Given the description of an element on the screen output the (x, y) to click on. 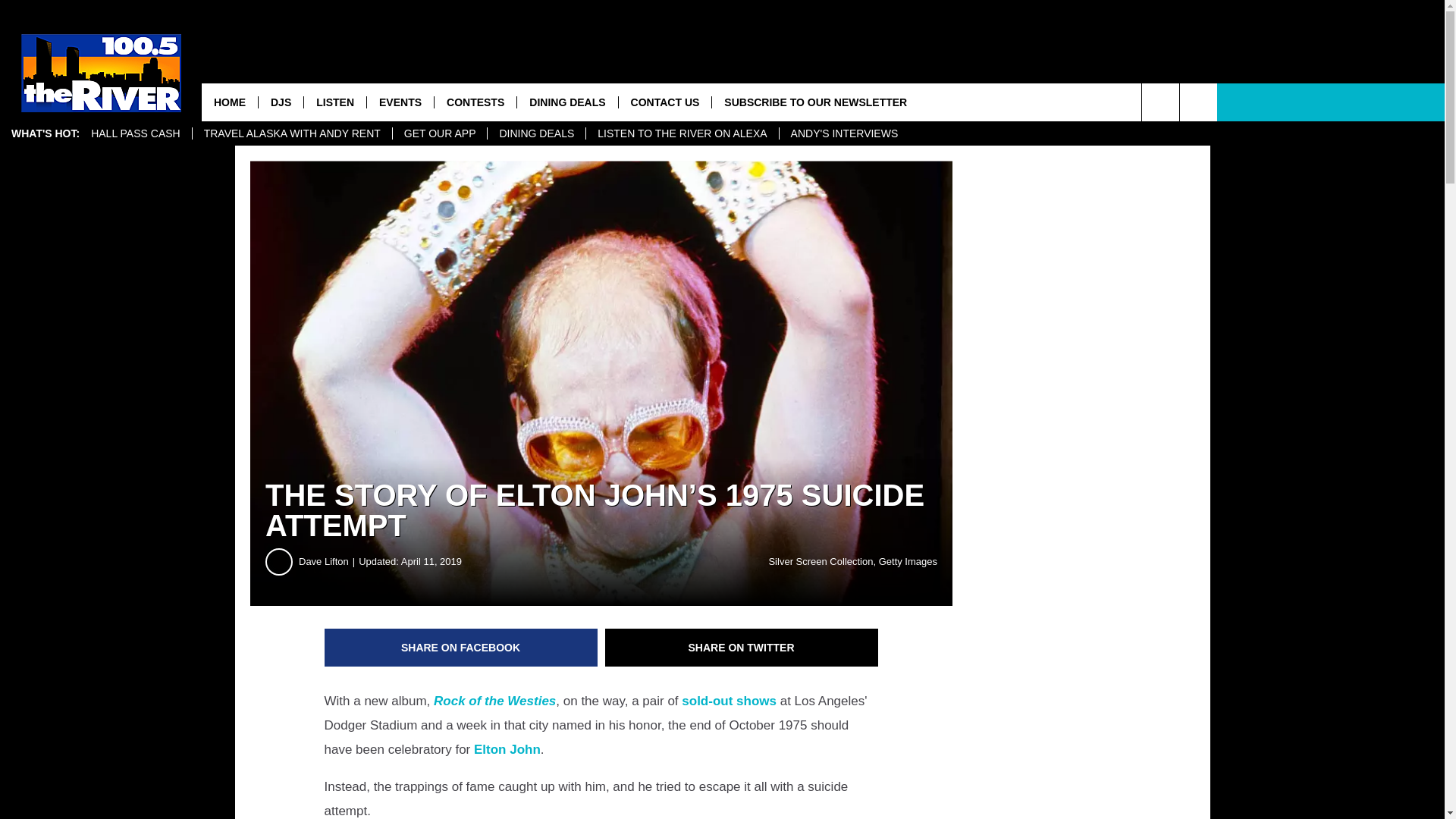
HOME (229, 102)
DINING DEALS (535, 133)
Share on Twitter (741, 647)
DINING DEALS (566, 102)
LISTEN (334, 102)
GET OUR APP (439, 133)
HALL PASS CASH (136, 133)
DJS (279, 102)
ANDY'S INTERVIEWS (844, 133)
LISTEN TO THE RIVER ON ALEXA (681, 133)
TRAVEL ALASKA WITH ANDY RENT (291, 133)
SUBSCRIBE TO OUR NEWSLETTER (814, 102)
Share on Facebook (460, 647)
CONTESTS (474, 102)
EVENTS (399, 102)
